Given the description of an element on the screen output the (x, y) to click on. 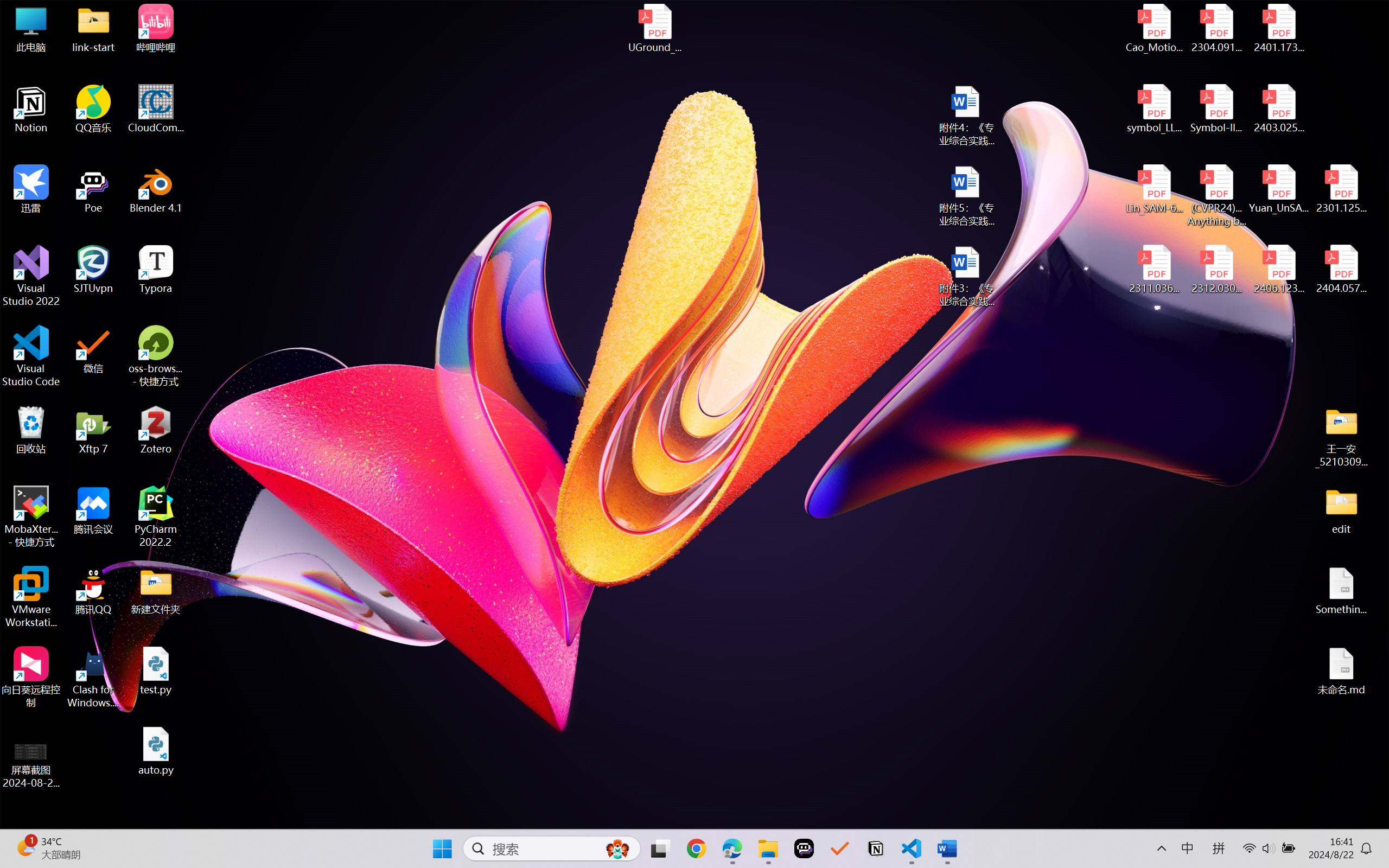
Blender 4.1 (156, 189)
2406.12373v2.pdf (1278, 269)
Visual Studio Code (31, 355)
2312.03032v2.pdf (1216, 269)
